Given the description of an element on the screen output the (x, y) to click on. 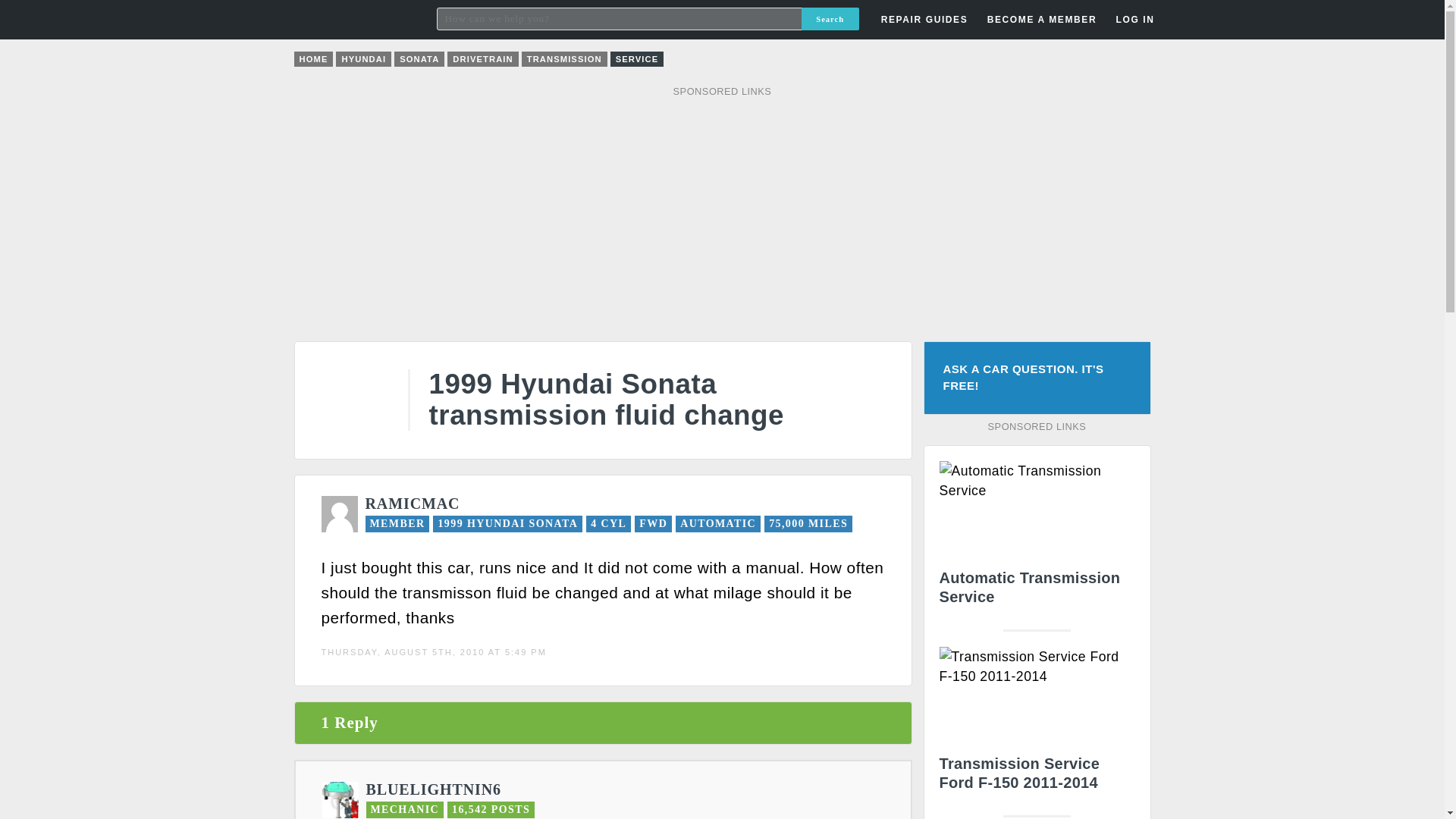
REPAIR GUIDES (924, 19)
LOG IN (1134, 19)
Facebook (1136, 57)
HYUNDAI (363, 58)
Search (830, 18)
Twitter (1097, 57)
Search (830, 18)
YouTube (1058, 57)
DRIVETRAIN (482, 58)
LOG IN (1048, 242)
